Given the description of an element on the screen output the (x, y) to click on. 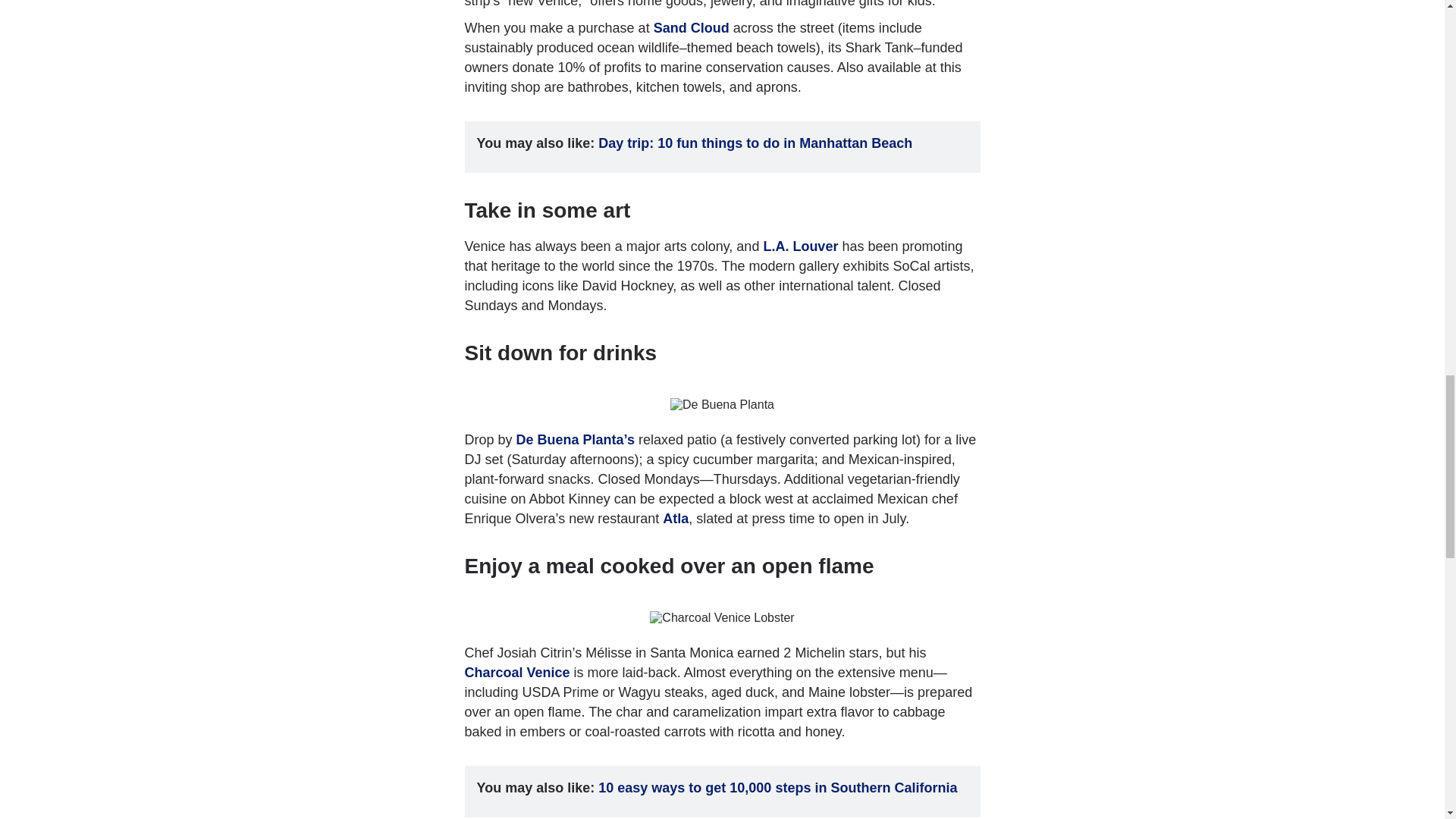
Day trip: 10 fun things to do in Manhattan Beach (755, 142)
Charcoal Venice (516, 672)
Sand Cloud (691, 28)
10 easy ways to get 10,000 steps in Southern California (777, 787)
L.A. Louver (800, 246)
Atla (675, 518)
